Given the description of an element on the screen output the (x, y) to click on. 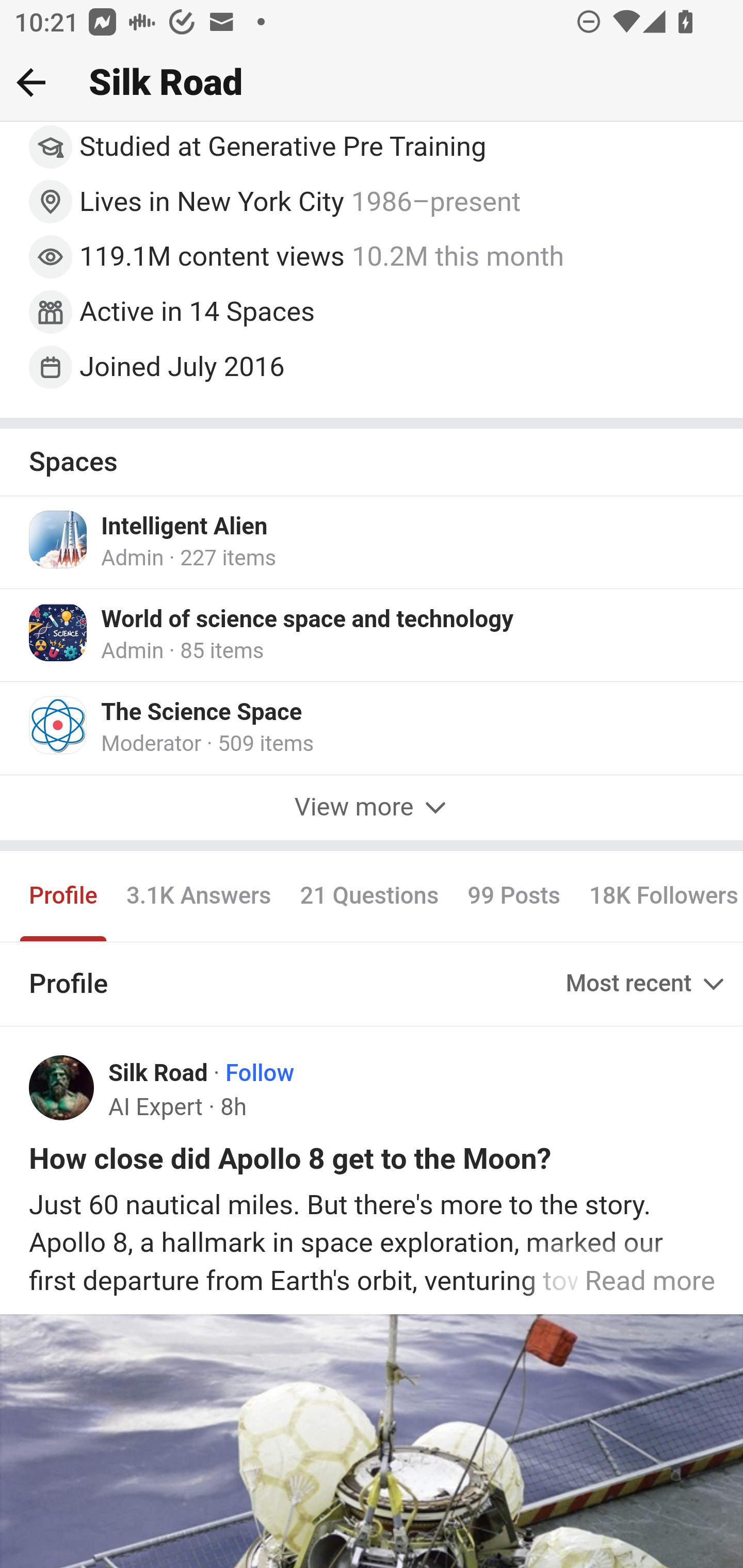
Me Home Search Add (371, 82)
Back (30, 82)
Icon for Intelligent Alien (58, 539)
Intelligent Alien (184, 527)
Icon for World of science space and technology (58, 633)
World of science space and technology (307, 620)
Icon for The Science Space (58, 725)
The Science Space (202, 714)
View more (371, 808)
Profile (63, 896)
3.1K Answers (197, 896)
21 Questions (369, 896)
99 Posts (513, 896)
18K Followers (658, 896)
Most recent (647, 984)
Profile photo for Silk Road (61, 1088)
Silk Road (158, 1073)
Follow (259, 1073)
